Given the description of an element on the screen output the (x, y) to click on. 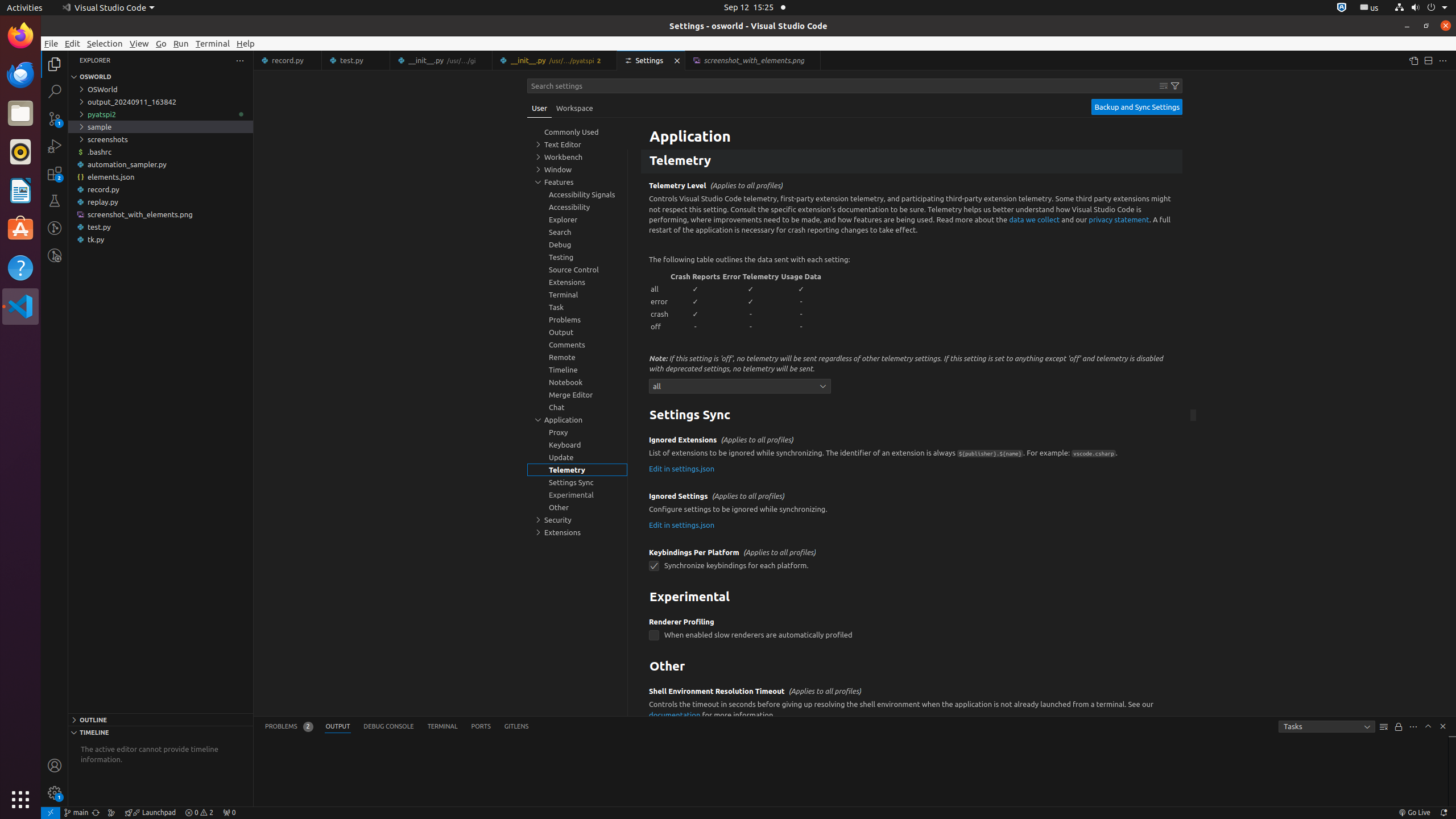
Source Control, group Element type: tree-item (577, 269)
screenshot_with_elements.png Element type: tree-item (160, 214)
Commonly Used, group Element type: tree-item (577, 131)
Experimental, group Element type: tree-item (577, 494)
File Element type: push-button (50, 43)
